Given the description of an element on the screen output the (x, y) to click on. 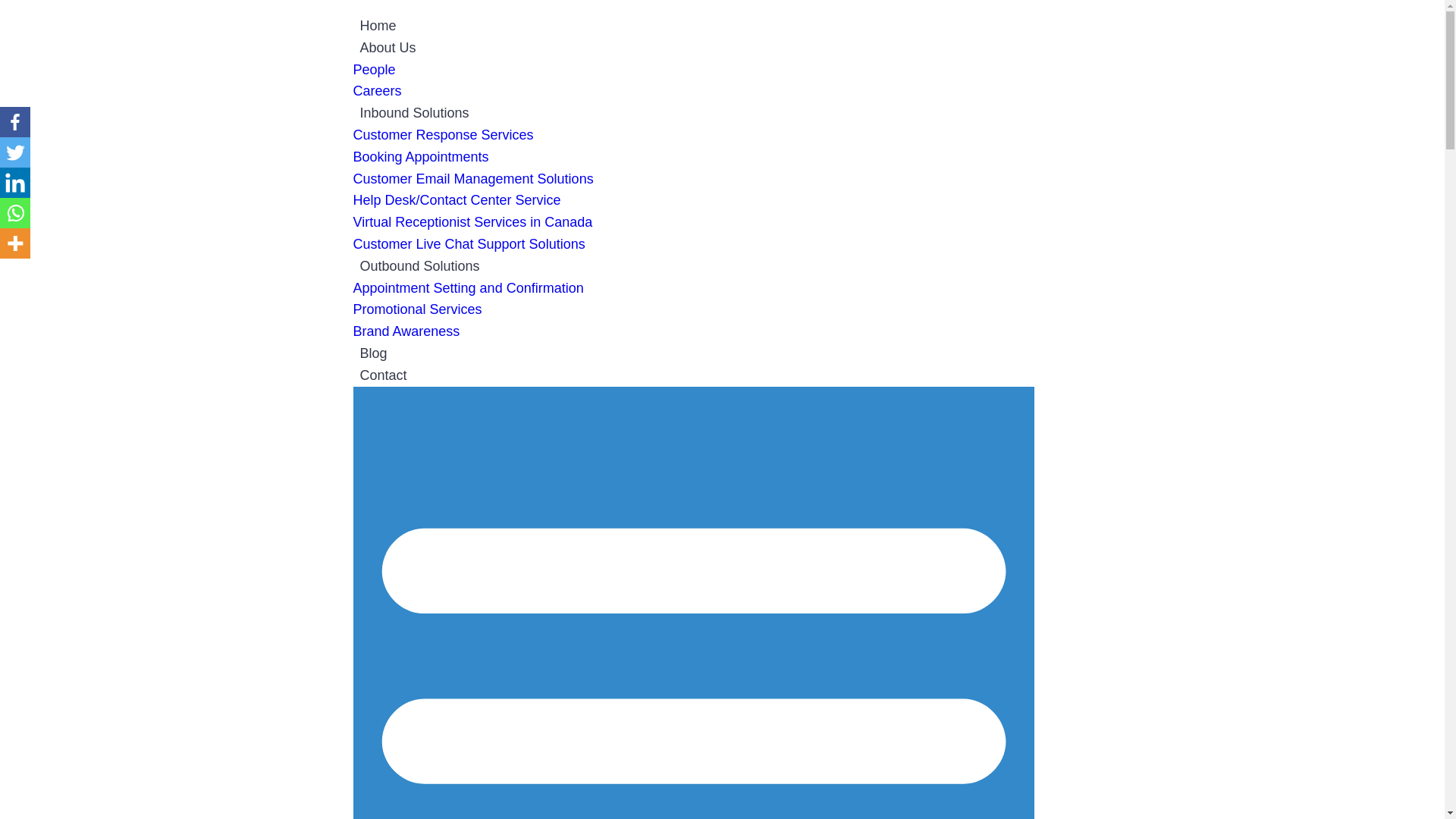
Contact Element type: text (383, 374)
Whatsapp Element type: hover (15, 212)
Customer Response Services Element type: text (443, 134)
Careers Element type: text (377, 90)
Virtual Receptionist Services in Canada Element type: text (473, 221)
Outbound Solutions Element type: text (419, 265)
Promotional Services Element type: text (417, 308)
Appointment Setting and Confirmation Element type: text (468, 287)
About Us Element type: text (388, 47)
Facebook Element type: hover (15, 121)
Booking Appointments Element type: text (421, 156)
Home Element type: text (378, 25)
Blog Element type: text (373, 352)
Twitter Element type: hover (15, 152)
People Element type: text (374, 69)
Customer Live Chat Support Solutions Element type: text (469, 243)
Inbound Solutions Element type: text (414, 112)
Brand Awareness Element type: text (406, 330)
Linkedin Element type: hover (15, 182)
Help Desk/Contact Center Service Element type: text (457, 199)
More Element type: hover (15, 243)
Customer Email Management Solutions Element type: text (473, 178)
